Given the description of an element on the screen output the (x, y) to click on. 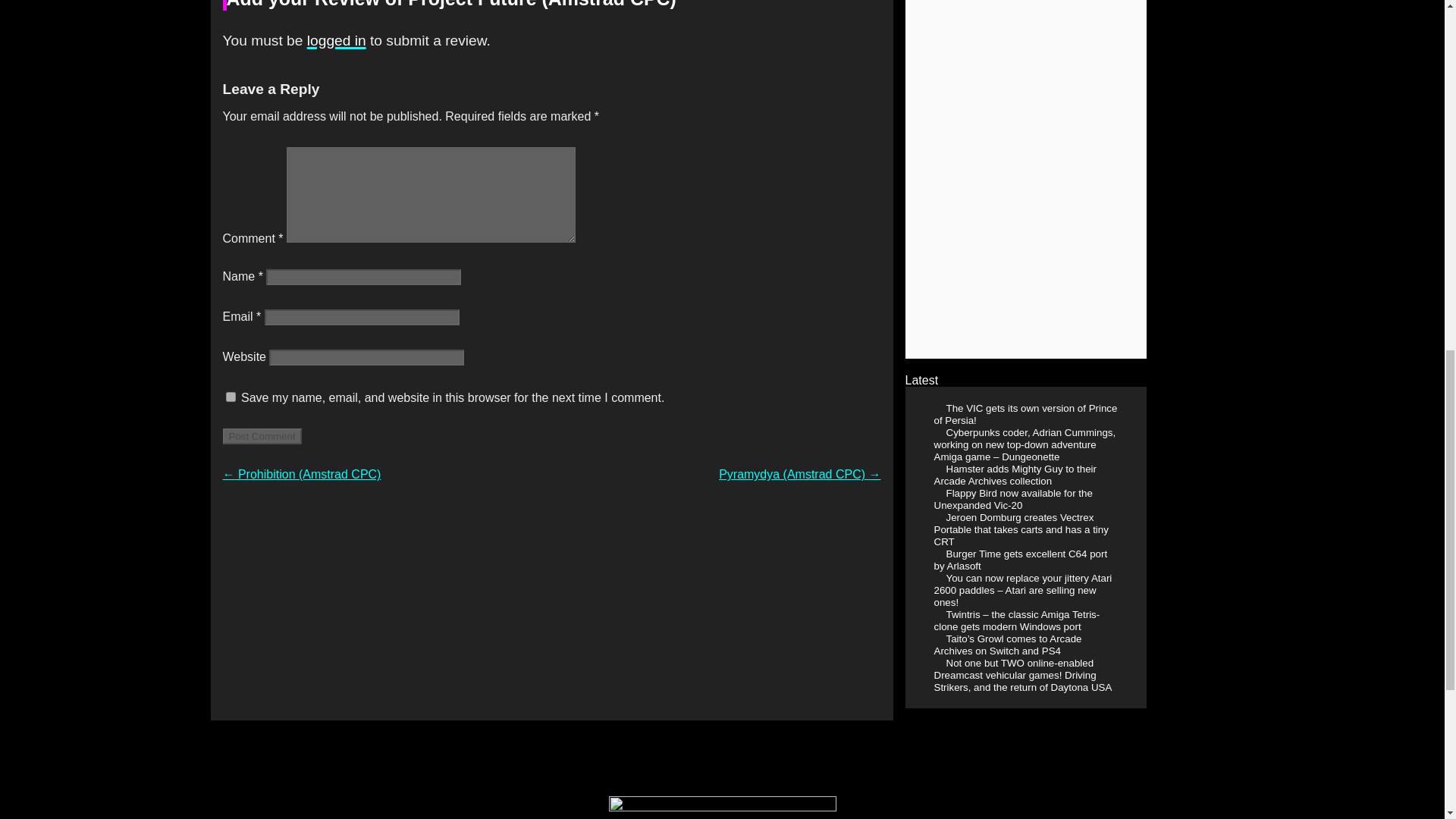
yes (230, 397)
Post Comment (261, 436)
Post Comment (261, 436)
logged in (336, 40)
